Given the description of an element on the screen output the (x, y) to click on. 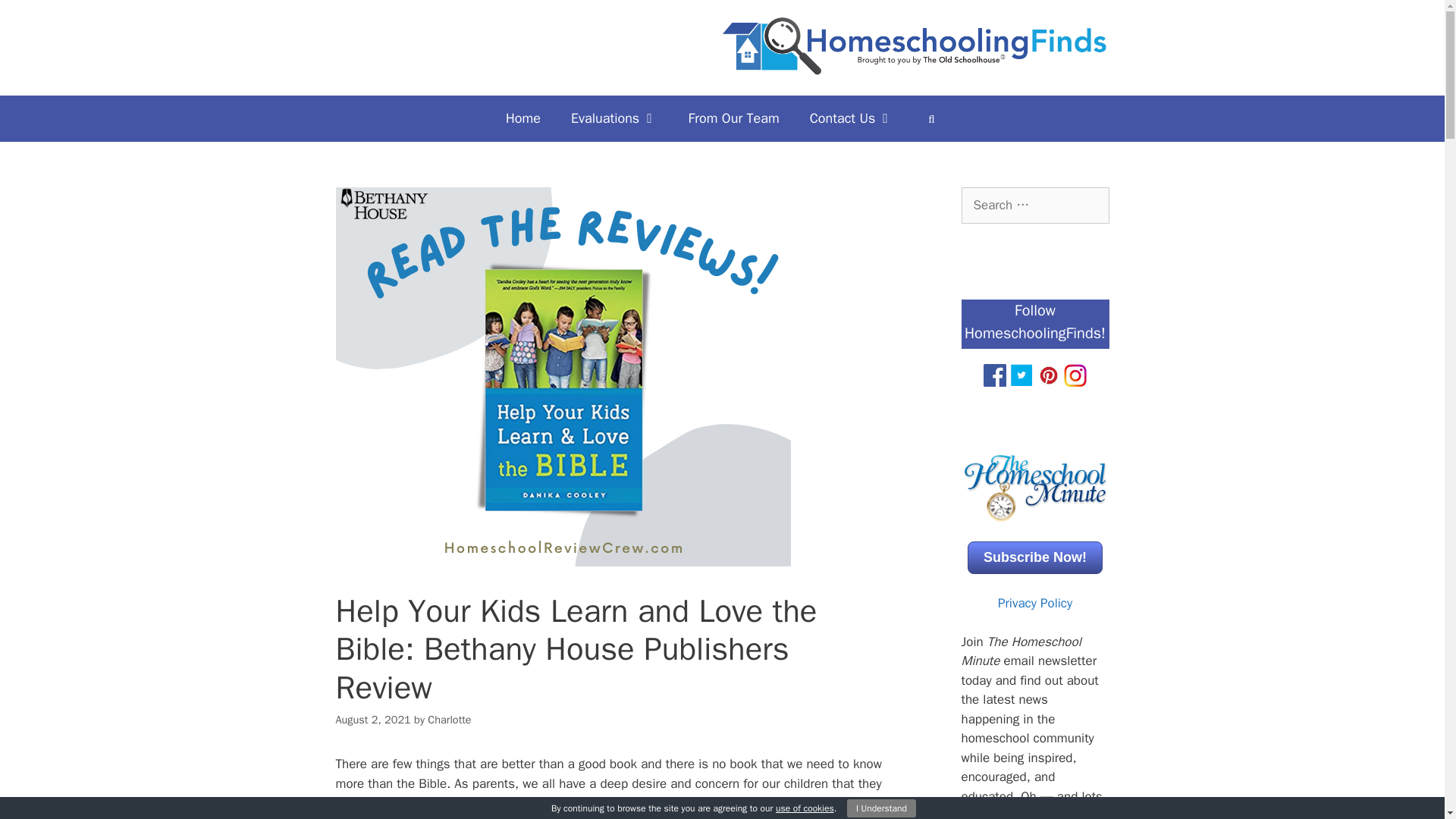
View all posts by Charlotte (449, 719)
From Our Team (733, 117)
Home (523, 117)
Charlotte (449, 719)
Contact Us (851, 117)
Evaluations (614, 117)
